Given the description of an element on the screen output the (x, y) to click on. 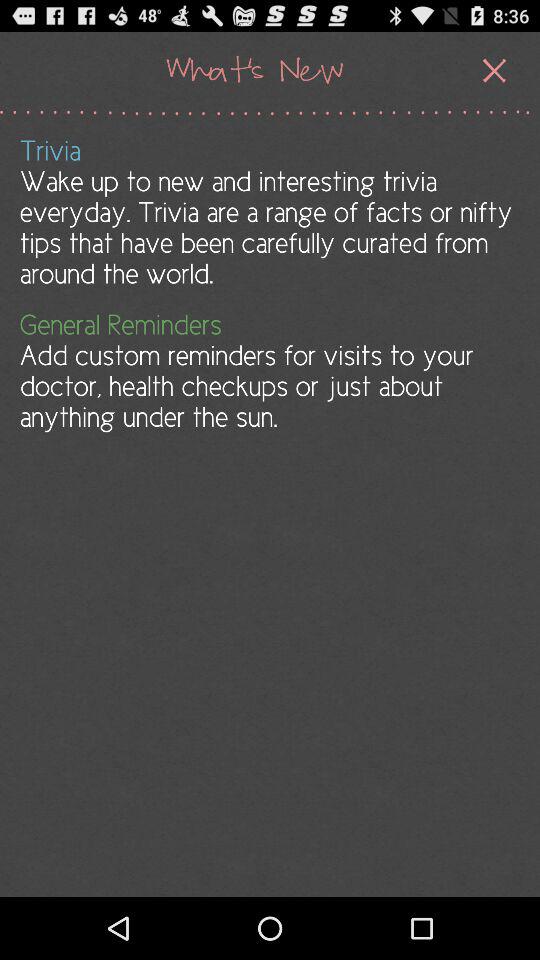
swipe until trivia wake up app (268, 212)
